Given the description of an element on the screen output the (x, y) to click on. 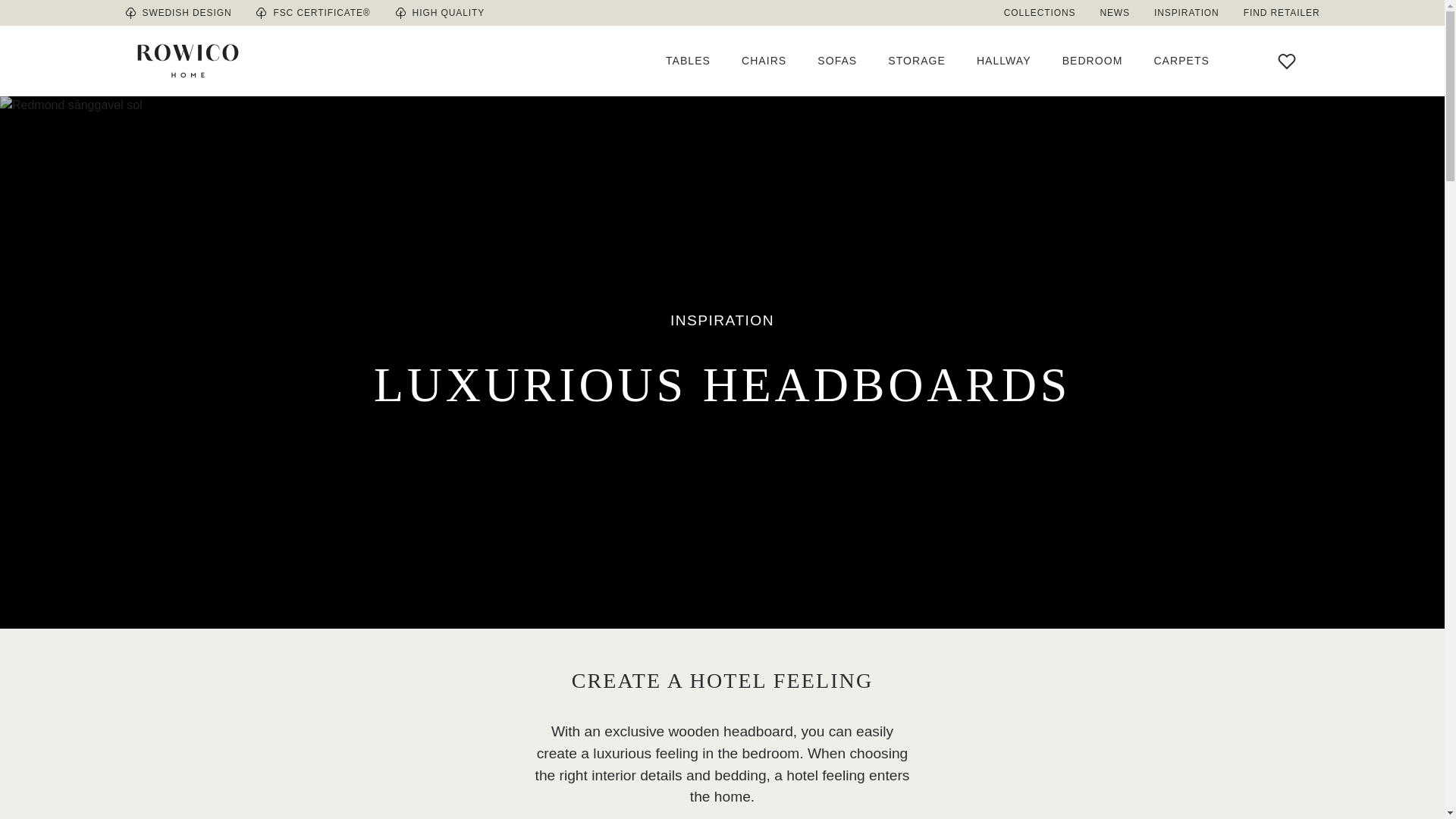
NEWS (1114, 12)
SOFAS (836, 60)
FIND RETAILER (1275, 12)
CHAIRS (763, 60)
COLLECTIONS (1045, 12)
TABLES (687, 60)
INSPIRATION (1186, 12)
